Given the description of an element on the screen output the (x, y) to click on. 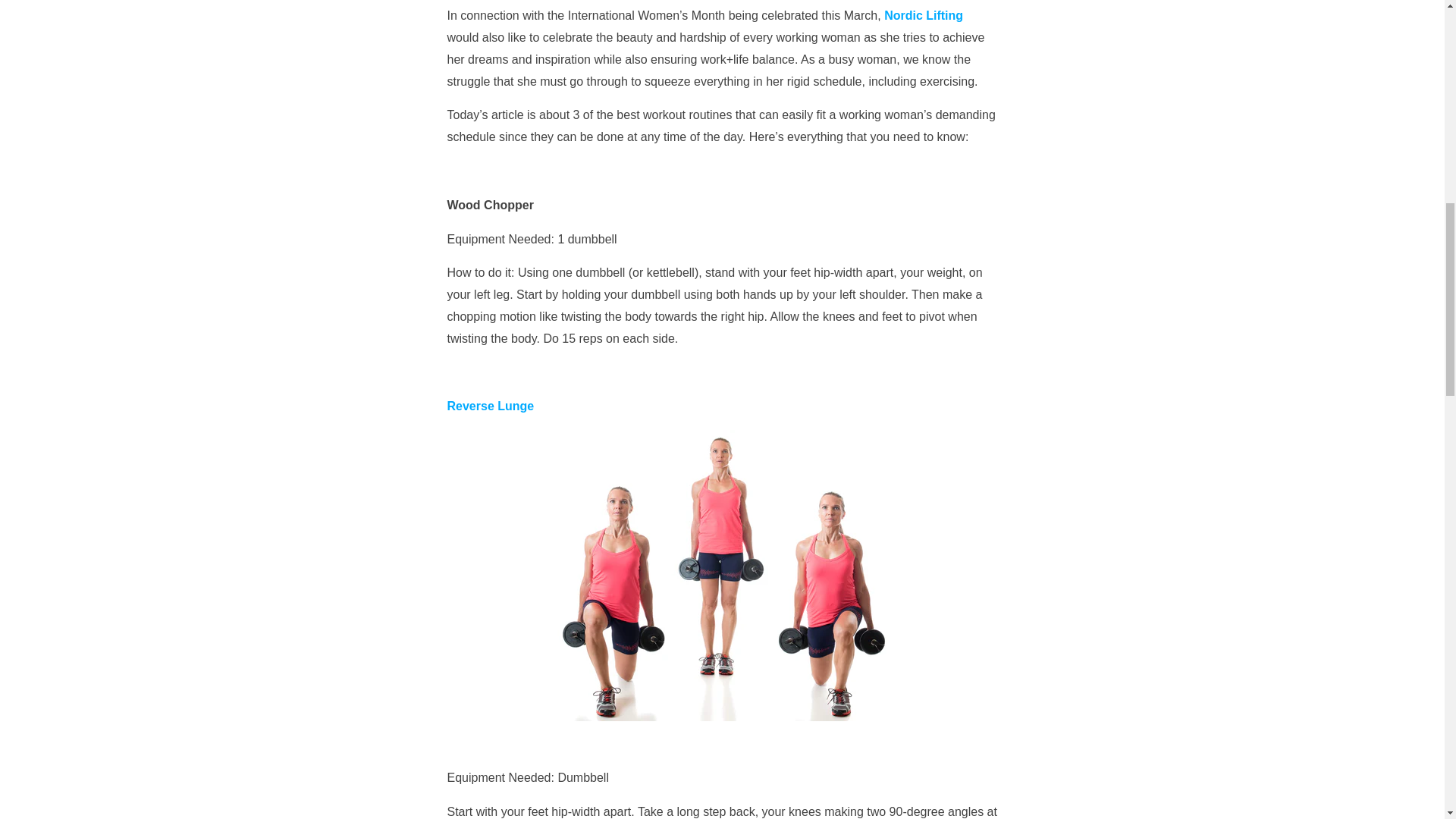
Nordic Lifting (922, 15)
Reverse Lunge (490, 405)
